Given the description of an element on the screen output the (x, y) to click on. 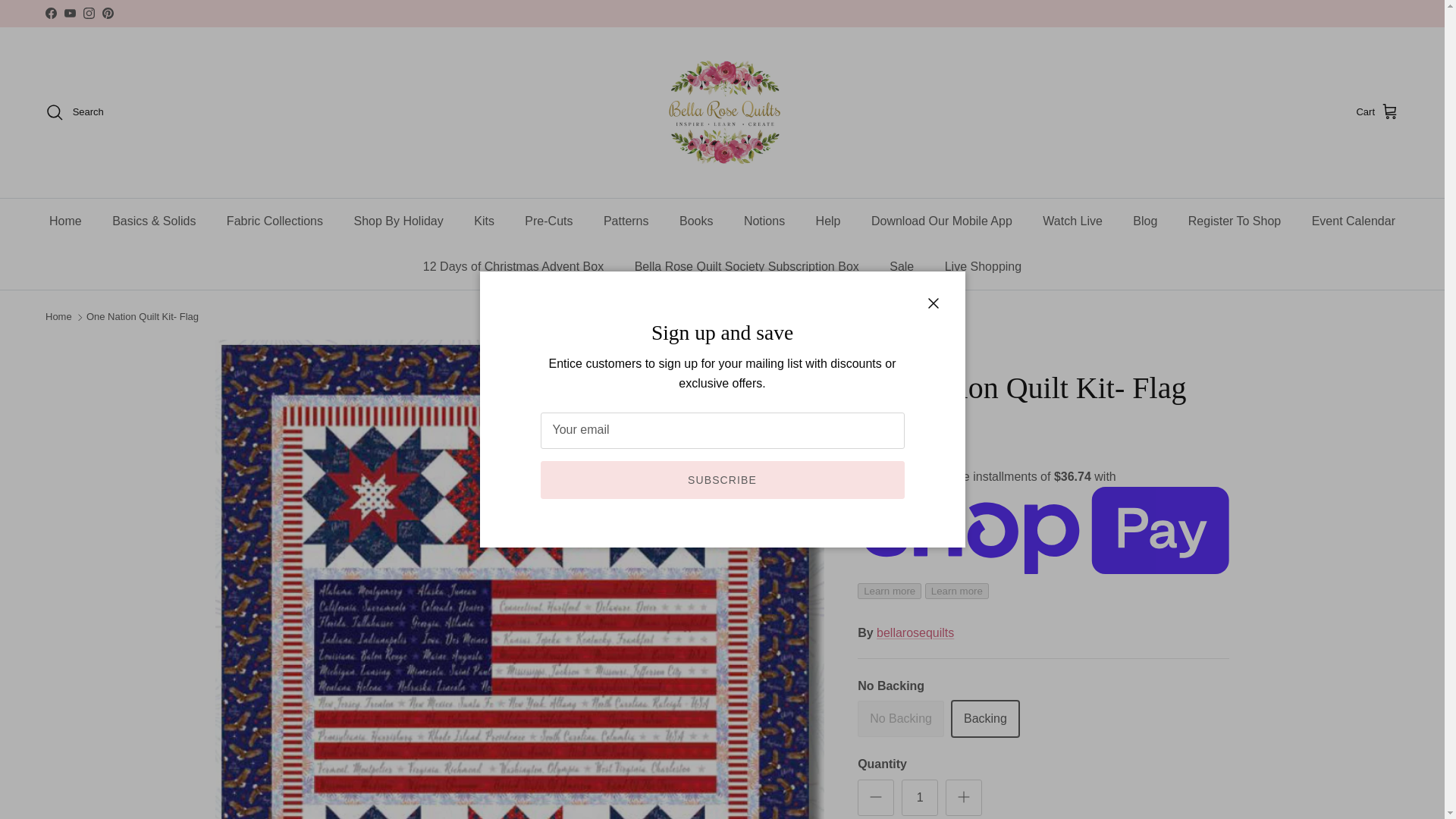
Facebook (50, 12)
bellarosequilts on Facebook (50, 12)
Instagram (88, 12)
Fabric Collections (274, 221)
bellarosequilts on Instagram (88, 12)
Search (74, 112)
Home (65, 221)
Cart (1377, 112)
bellarosequilts on Pinterest (107, 12)
bellarosequilts (722, 112)
YouTube (69, 12)
bellarosequilts on YouTube (69, 12)
Sold out (900, 719)
Pinterest (107, 12)
1 (919, 797)
